Given the description of an element on the screen output the (x, y) to click on. 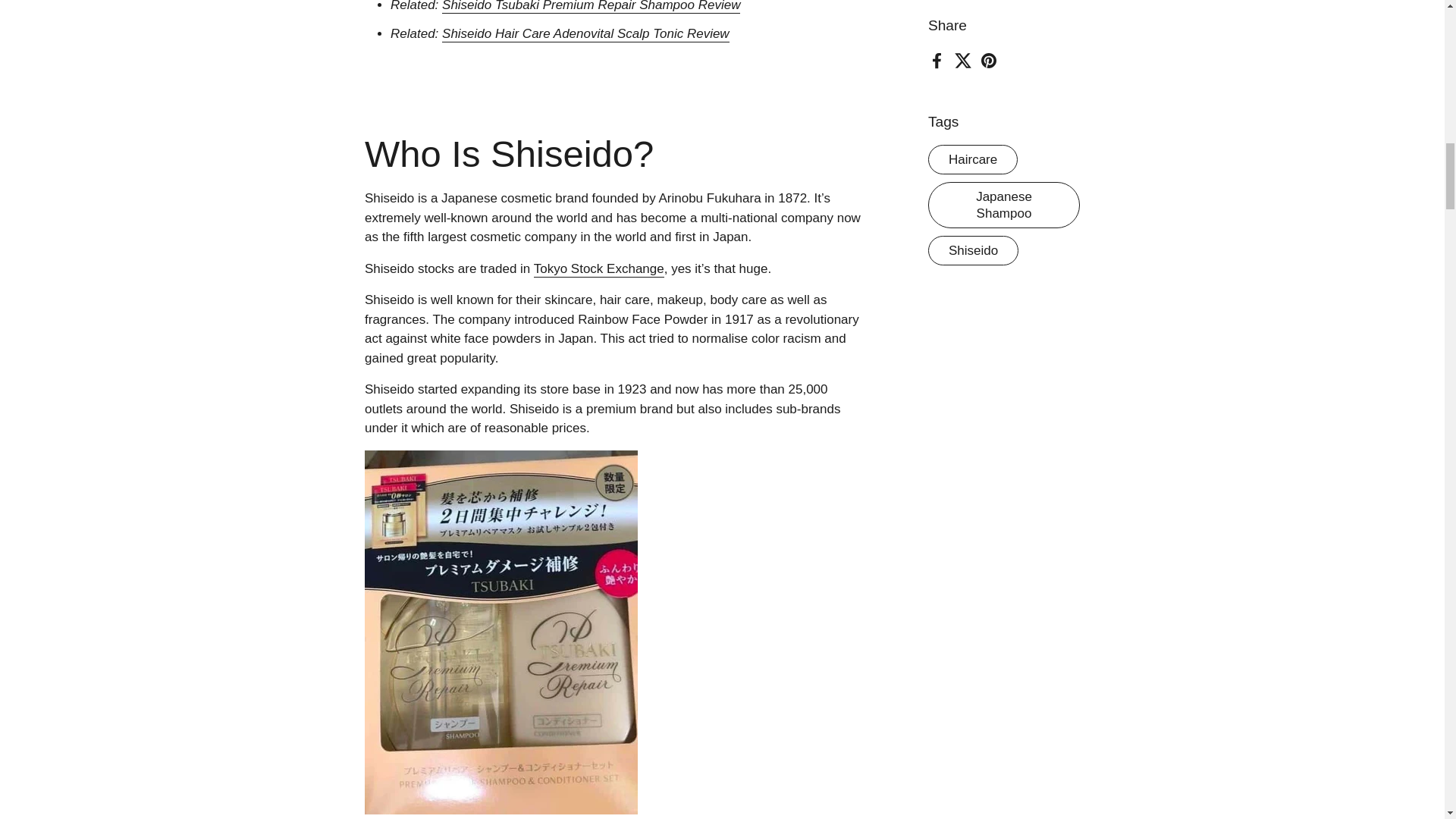
Shiseido Tsubaki Premium Repair Shampoo Review (590, 6)
Tokyo (550, 269)
Shiseido Hair Care Adenovital Scalp Tonic Review (585, 34)
